Given the description of an element on the screen output the (x, y) to click on. 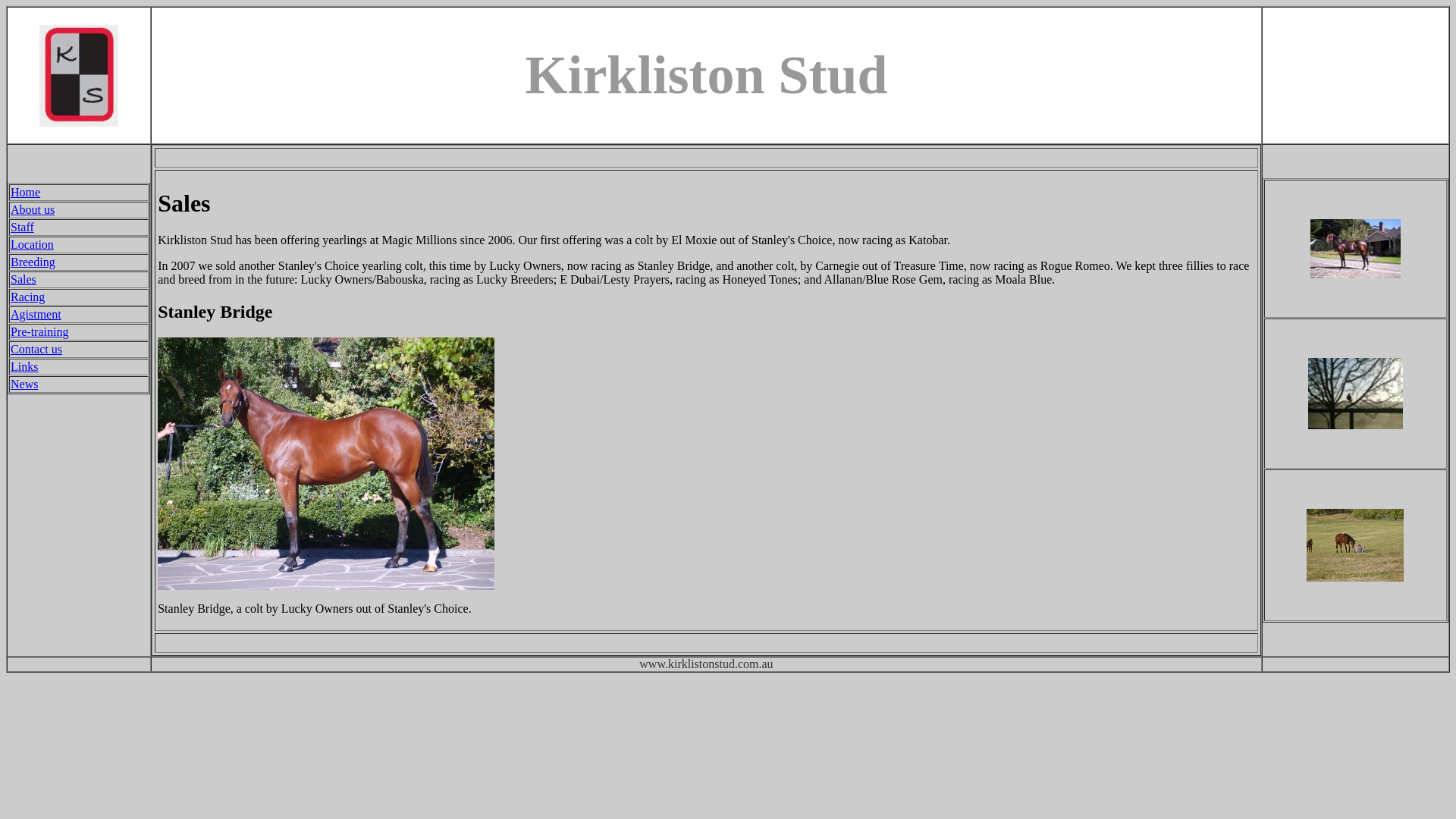
Links Element type: text (23, 366)
Home Element type: text (25, 191)
Sales Element type: text (23, 279)
About us Element type: text (32, 209)
Pre-training Element type: text (39, 331)
Location Element type: text (31, 244)
Contact us Element type: text (36, 348)
Staff Element type: text (22, 226)
News Element type: text (23, 383)
Agistment Element type: text (35, 313)
Racing Element type: text (27, 296)
Breeding Element type: text (32, 261)
